Given the description of an element on the screen output the (x, y) to click on. 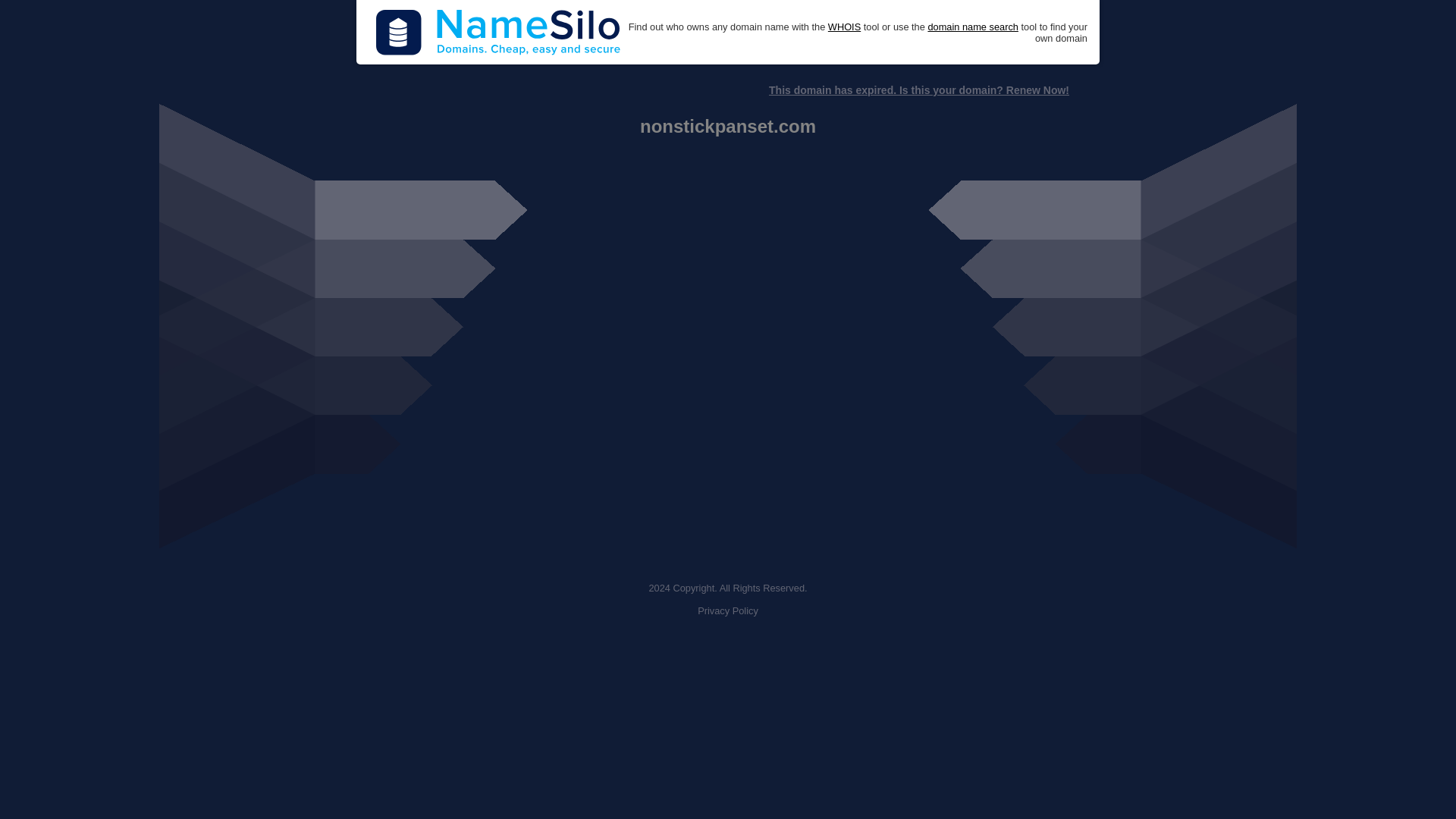
WHOIS (844, 26)
This domain has expired. Is this your domain? Renew Now! (918, 90)
Privacy Policy (727, 610)
domain name search (972, 26)
